Given the description of an element on the screen output the (x, y) to click on. 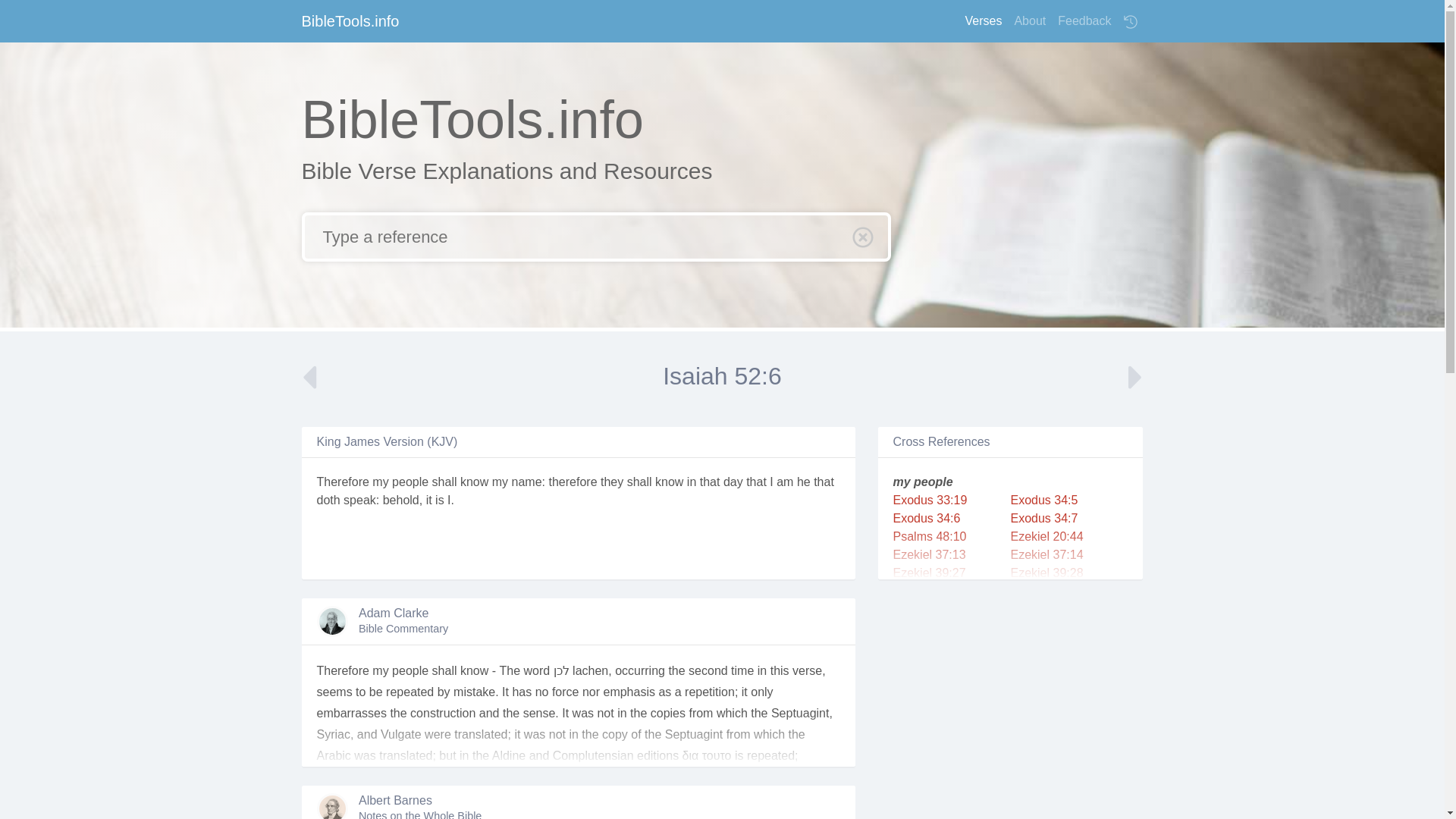
speak: (360, 499)
that (710, 481)
know (473, 481)
my (380, 481)
know (668, 481)
therefore (572, 481)
shall (444, 481)
day (732, 481)
BibleTools.info (349, 20)
About (1029, 20)
